Given the description of an element on the screen output the (x, y) to click on. 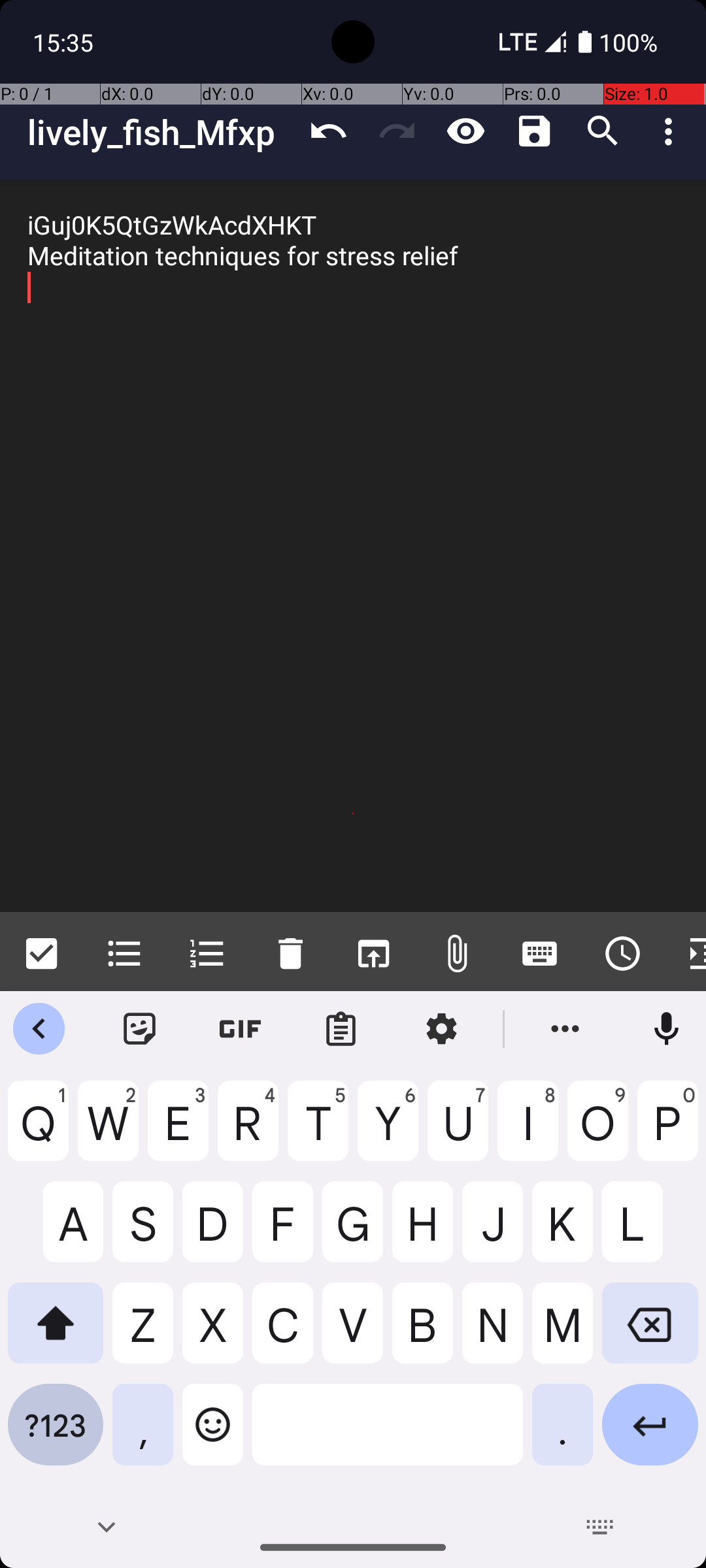
lively_fish_Mfxp Element type: android.widget.TextView (160, 131)
iGuj0K5QtGzWkAcdXHKT
Meditation techniques for stress relief
 Element type: android.widget.EditText (353, 545)
